Given the description of an element on the screen output the (x, y) to click on. 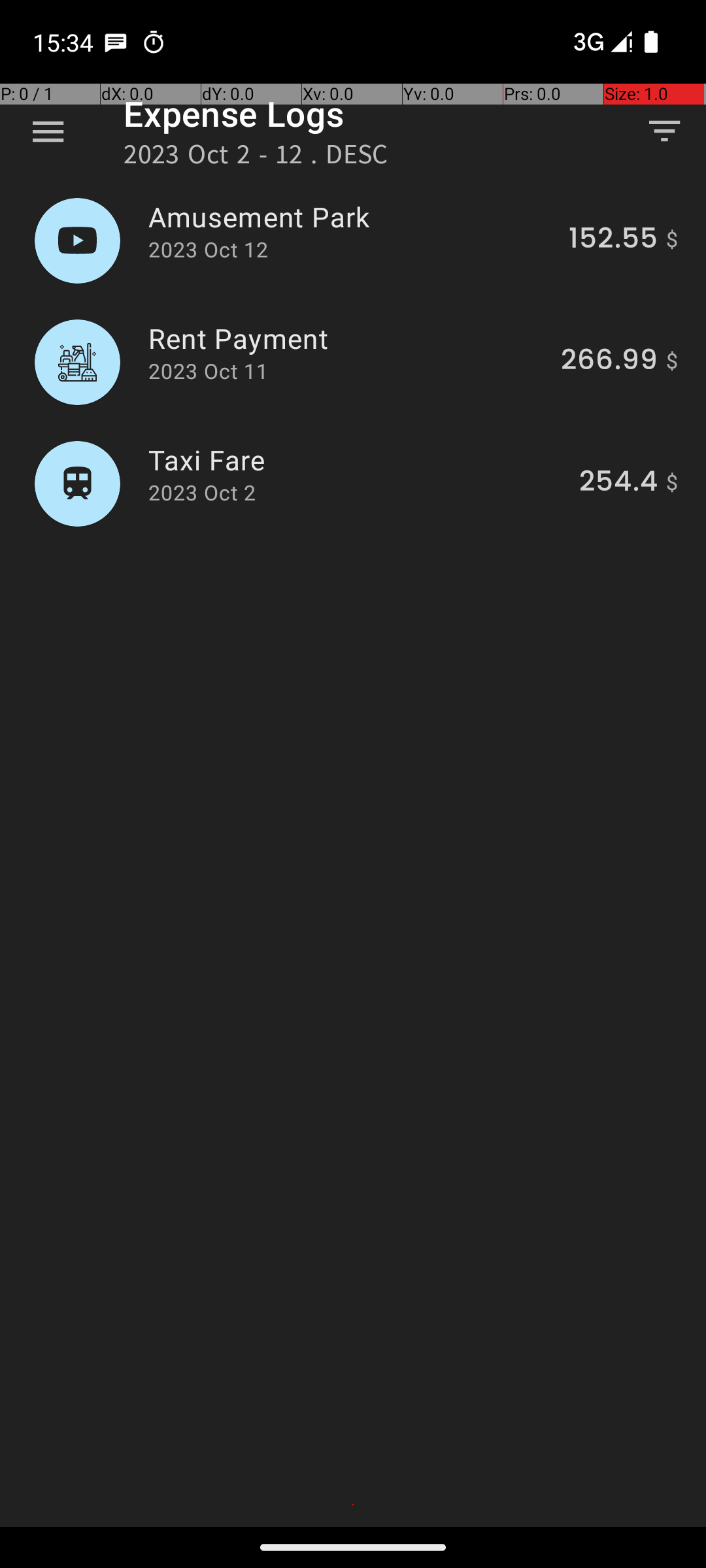
2023 Oct 2 - 12 . DESC Element type: android.widget.TextView (255, 157)
Amusement Park Element type: android.widget.TextView (350, 216)
152.55 Element type: android.widget.TextView (613, 240)
Rent Payment Element type: android.widget.TextView (346, 337)
266.99 Element type: android.widget.TextView (609, 362)
254.4 Element type: android.widget.TextView (618, 483)
